Given the description of an element on the screen output the (x, y) to click on. 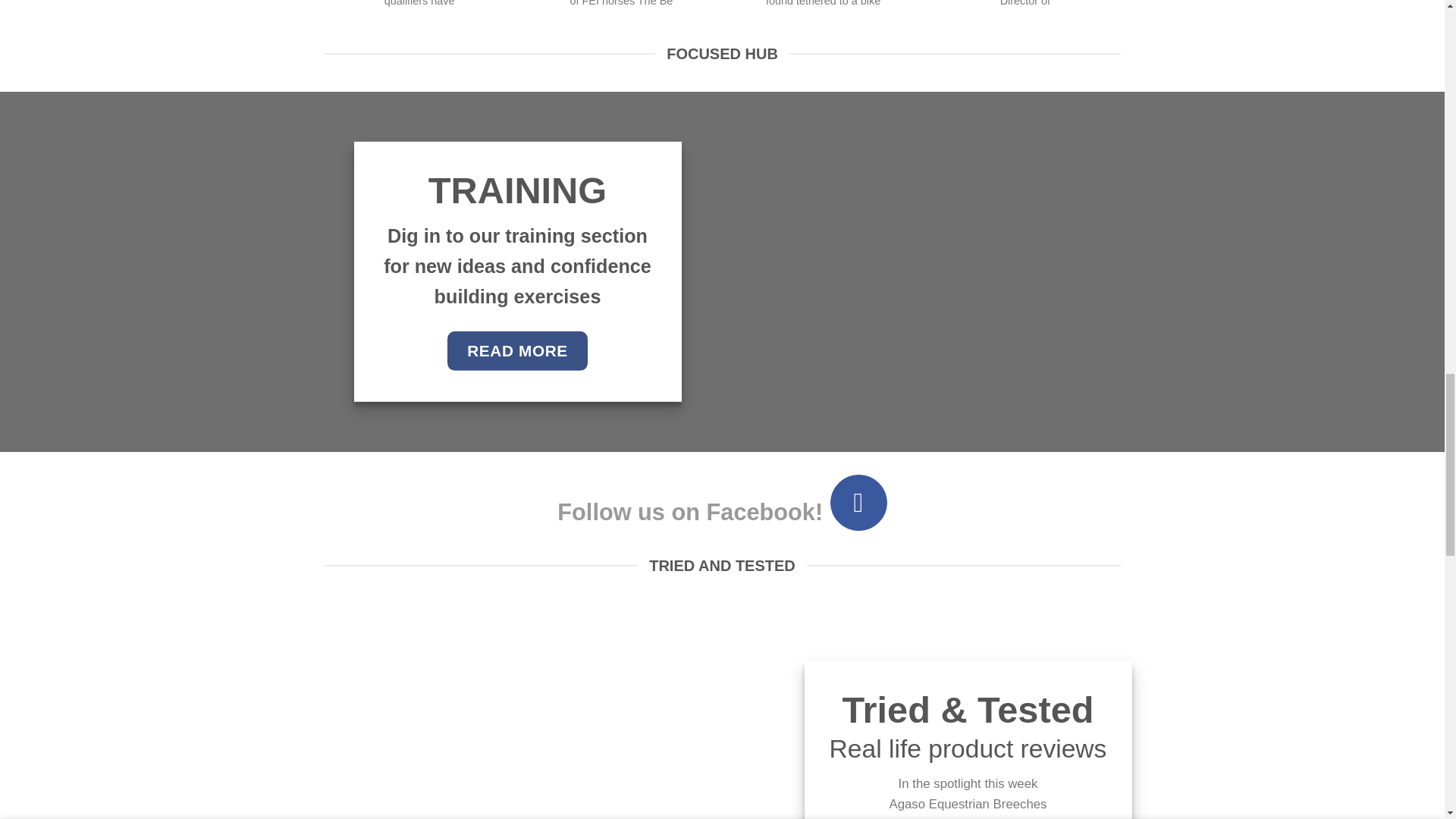
Follow on Facebook (857, 502)
